Given the description of an element on the screen output the (x, y) to click on. 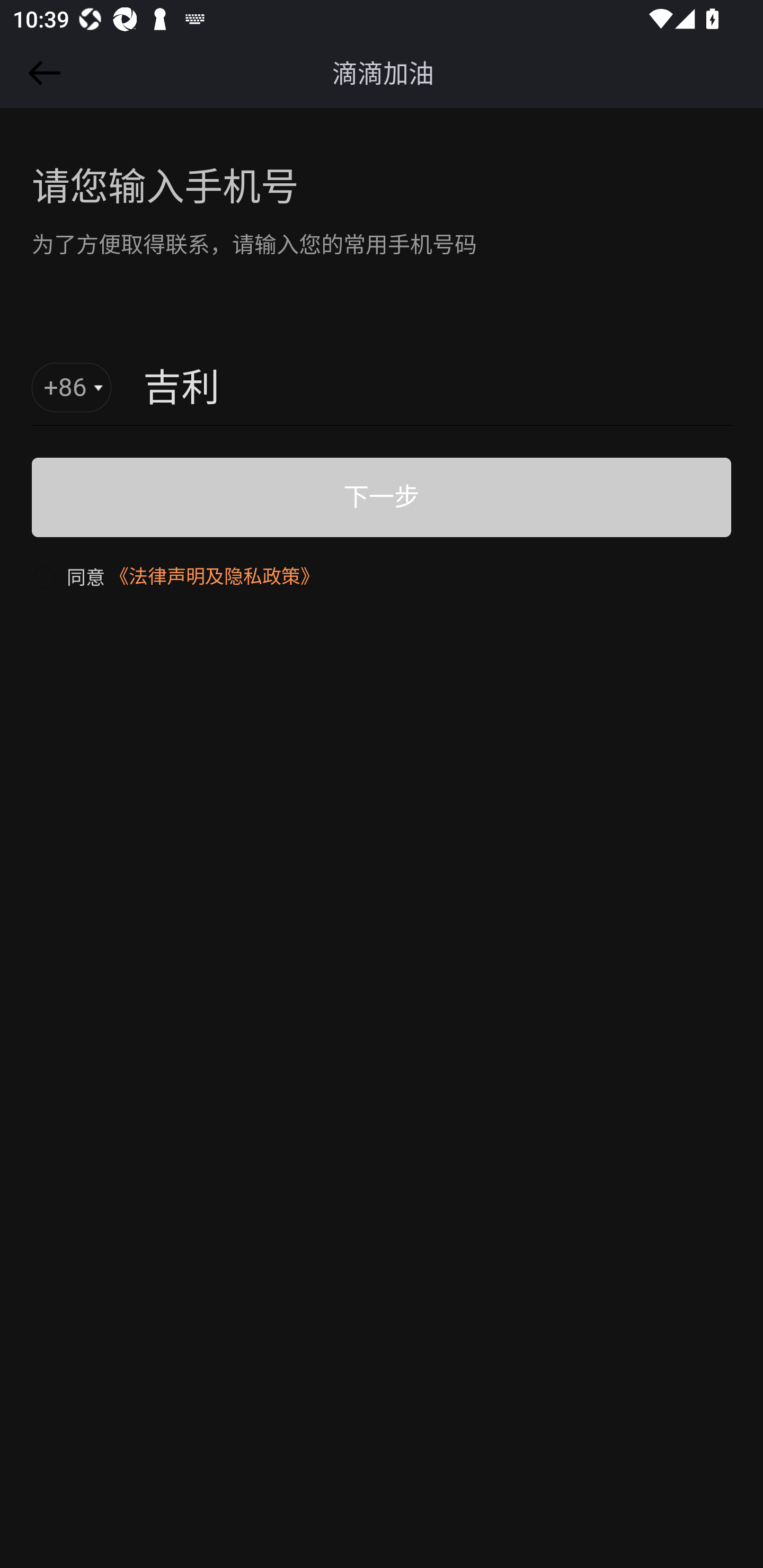
 (41, 72)
+86 (72, 387)
吉利 (388, 388)
下一步 (381, 496)
同意 (68, 576)
《法律声明及隐私政策》 (213, 576)
